Given the description of an element on the screen output the (x, y) to click on. 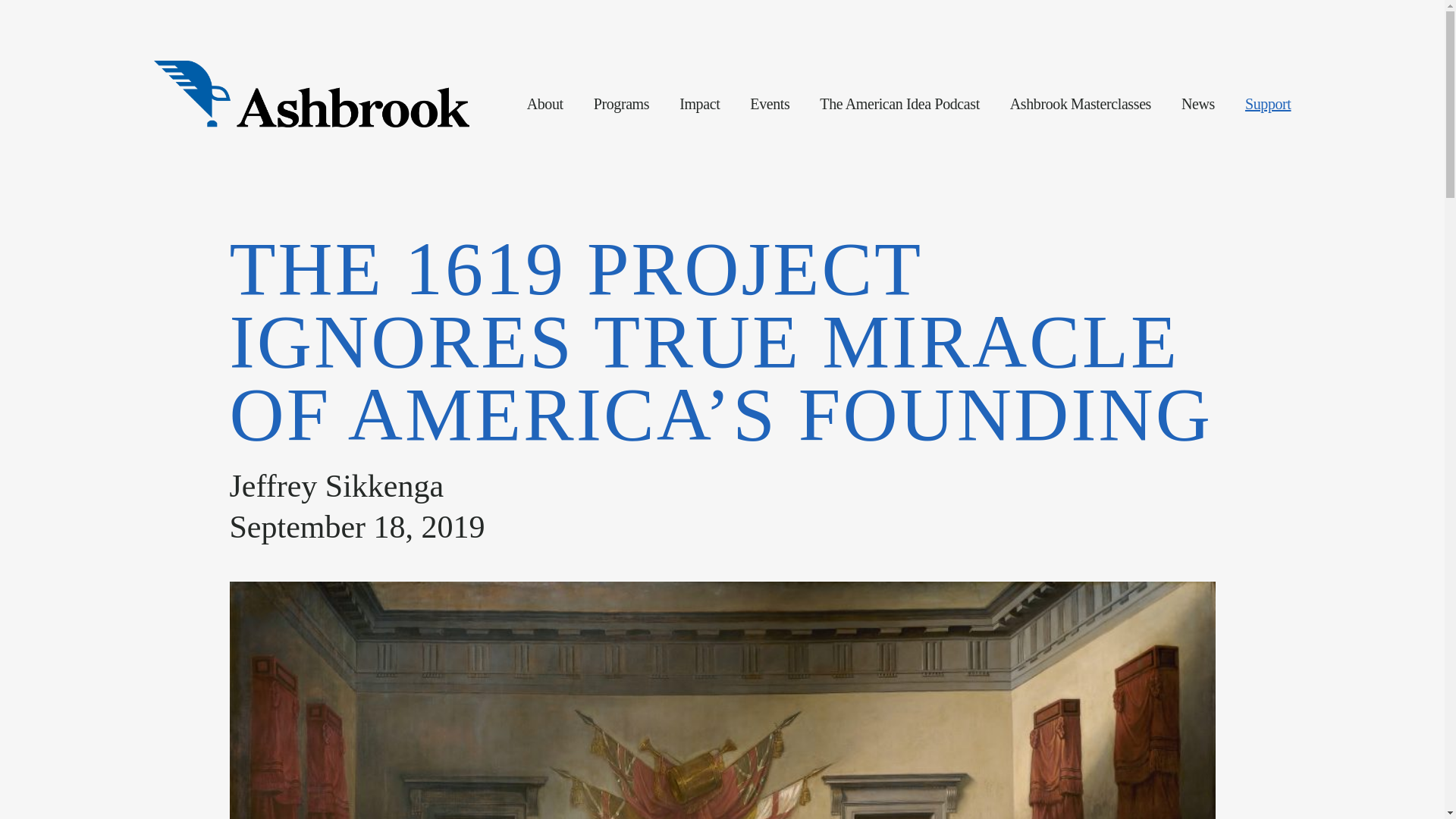
Programs (621, 103)
About (545, 103)
Ashbrook Center (310, 93)
News (1197, 103)
Support (1267, 103)
Ashbrook Masterclasses (1080, 103)
Impact (699, 103)
Events (769, 103)
The American Idea Podcast (898, 103)
